Given the description of an element on the screen output the (x, y) to click on. 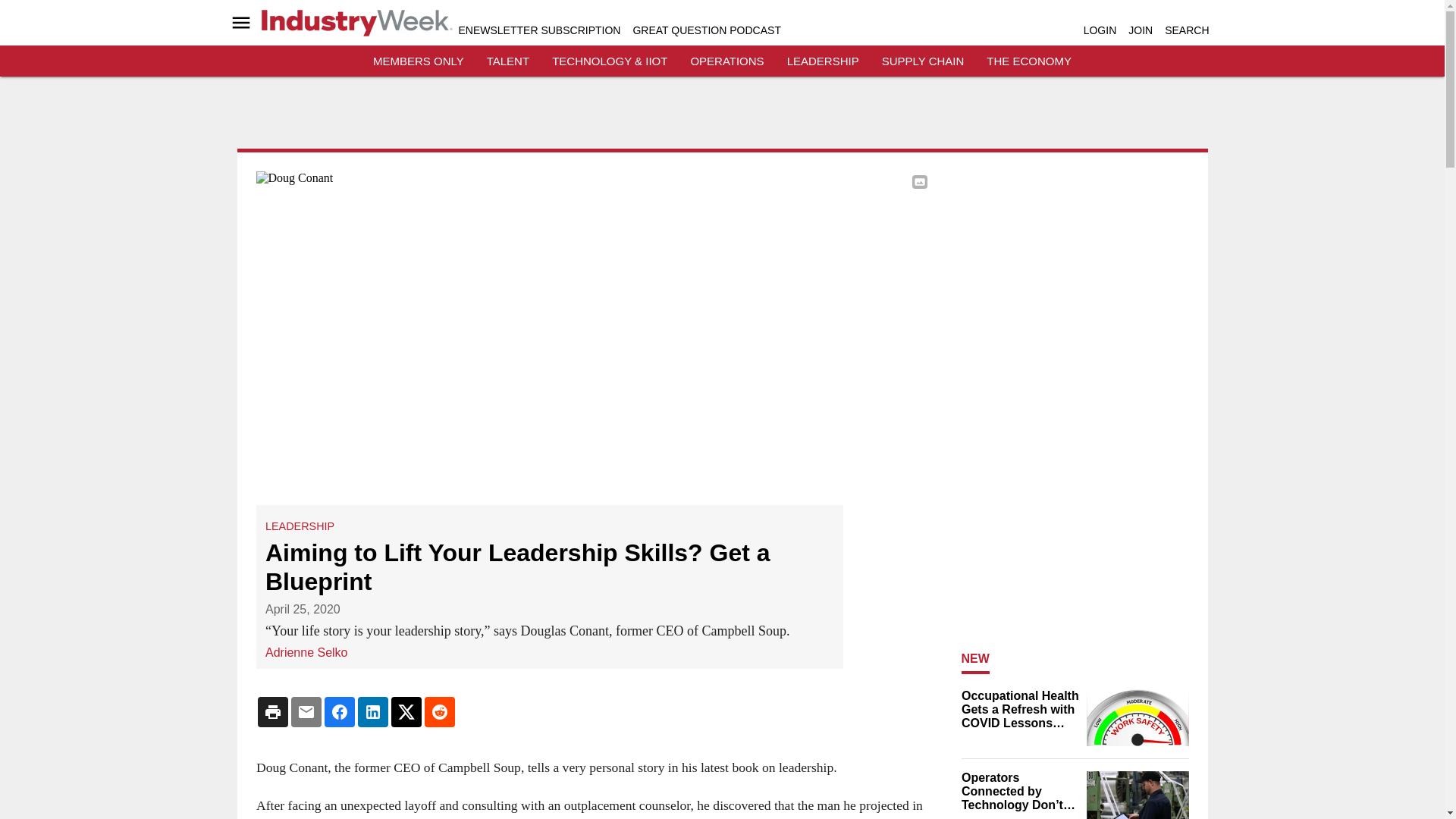
SUPPLY CHAIN (922, 60)
LEADERSHIP (299, 526)
SEARCH (1186, 30)
LEADERSHIP (823, 60)
OPERATIONS (726, 60)
JOIN (1140, 30)
GREAT QUESTION PODCAST (705, 30)
TALENT (507, 60)
MEMBERS ONLY (418, 60)
THE ECONOMY (1029, 60)
